Given the description of an element on the screen output the (x, y) to click on. 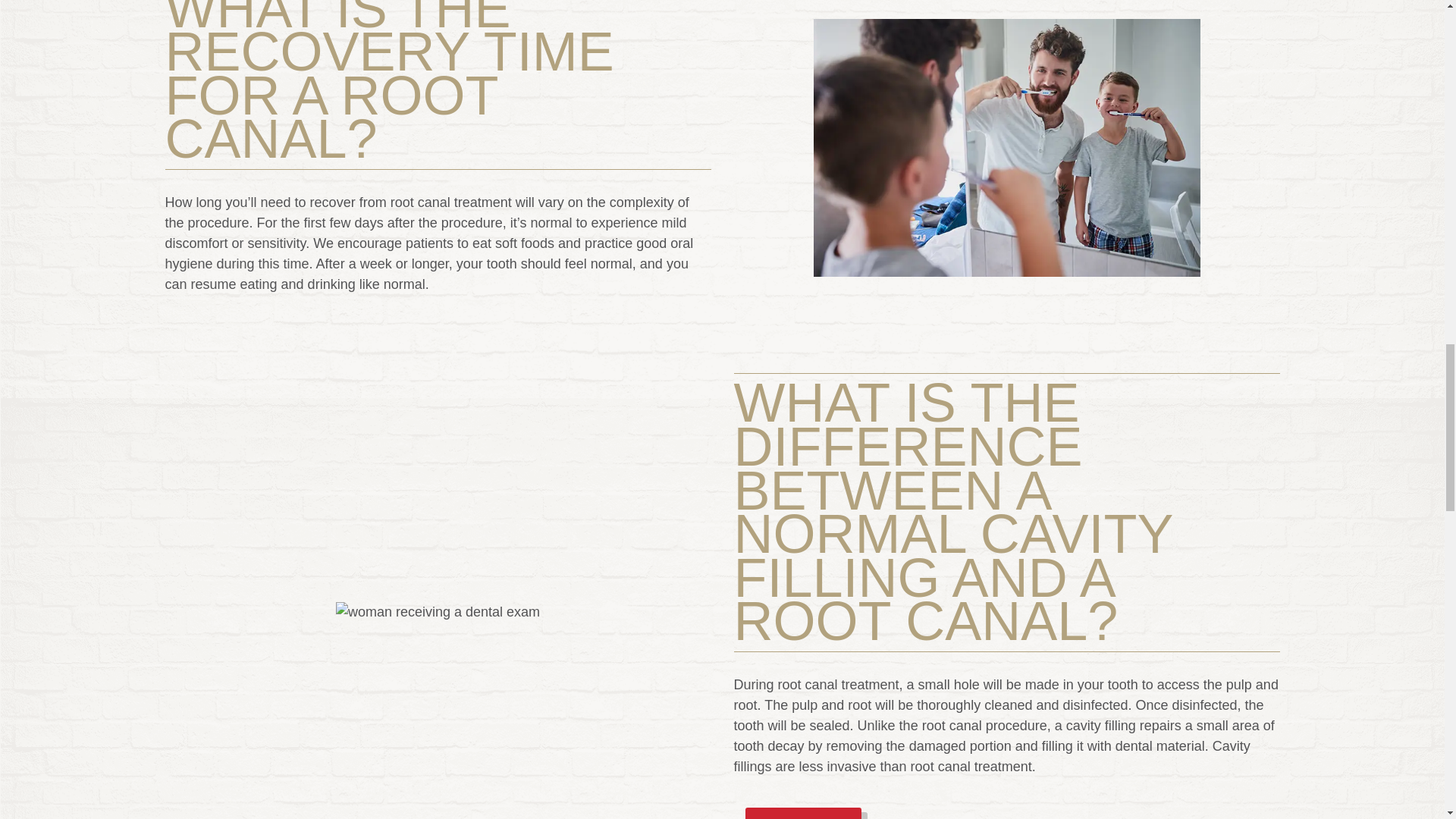
CONTACT US (802, 813)
